Given the description of an element on the screen output the (x, y) to click on. 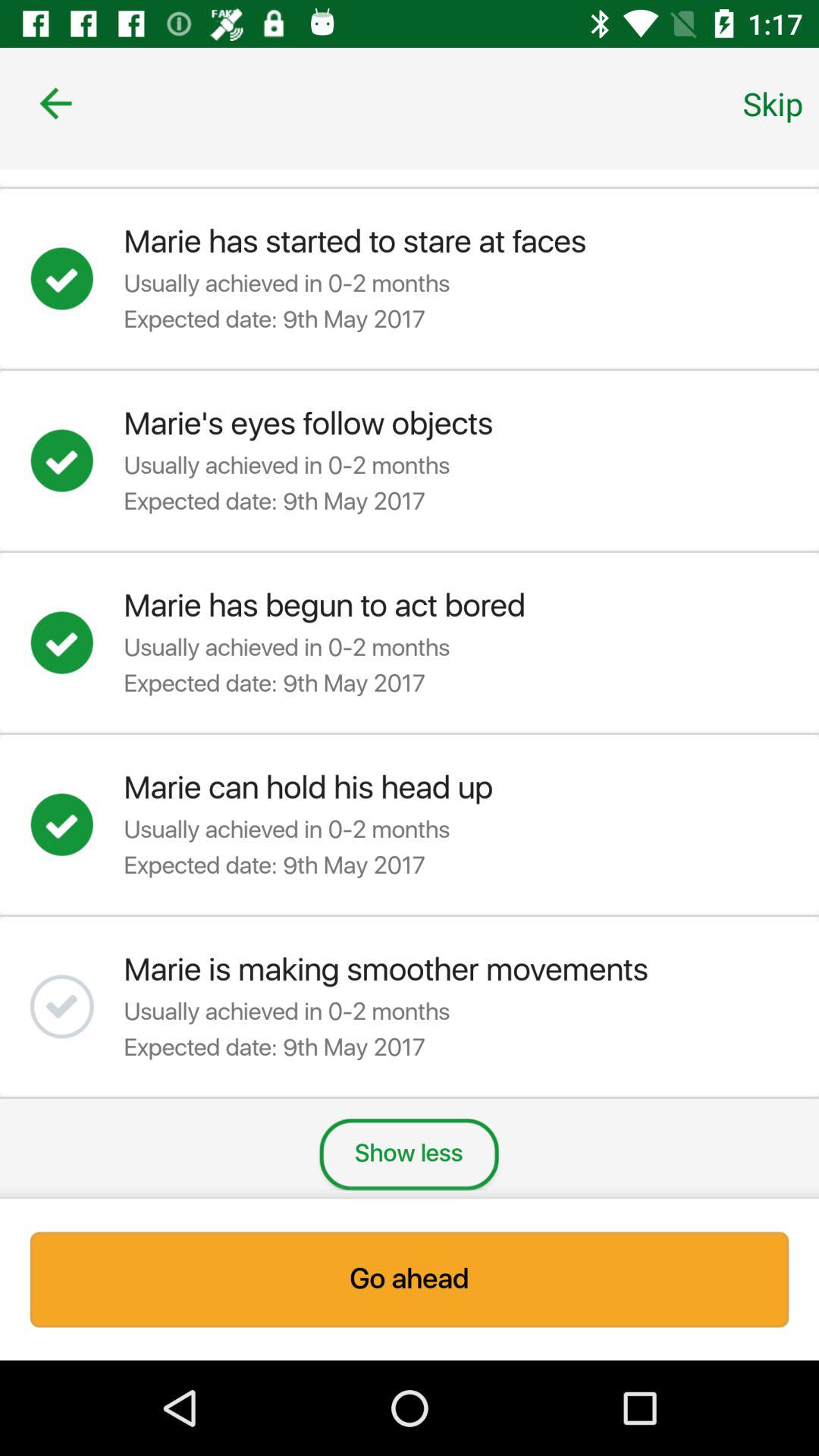
chose whether marie can hold her head up (76, 824)
